Given the description of an element on the screen output the (x, y) to click on. 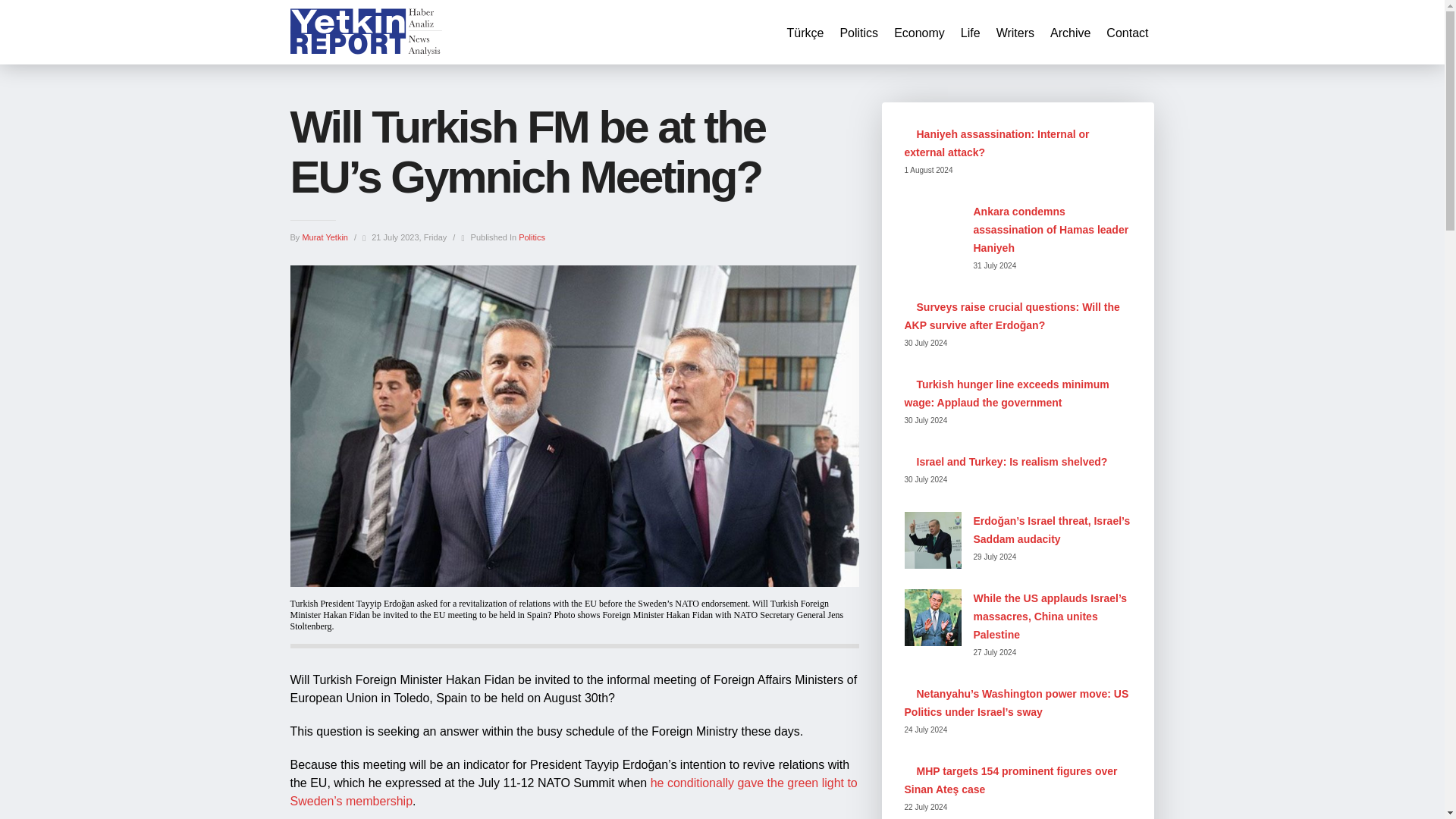
Economy (919, 32)
Yetkin Report Siyaset, Ekonomi Haber-Analiz, Yorum (365, 32)
Writers (1015, 32)
Murat Yetkin (325, 236)
Archive (1069, 32)
Life (971, 32)
Politics (857, 32)
Haniyeh assassination: Internal or external attack? (996, 142)
Contact (1127, 32)
Ankara condemns assassination of Hamas leader Haniyeh (1051, 229)
Politics (531, 236)
Israel and Turkey: Is realism shelved? (1010, 461)
